Given the description of an element on the screen output the (x, y) to click on. 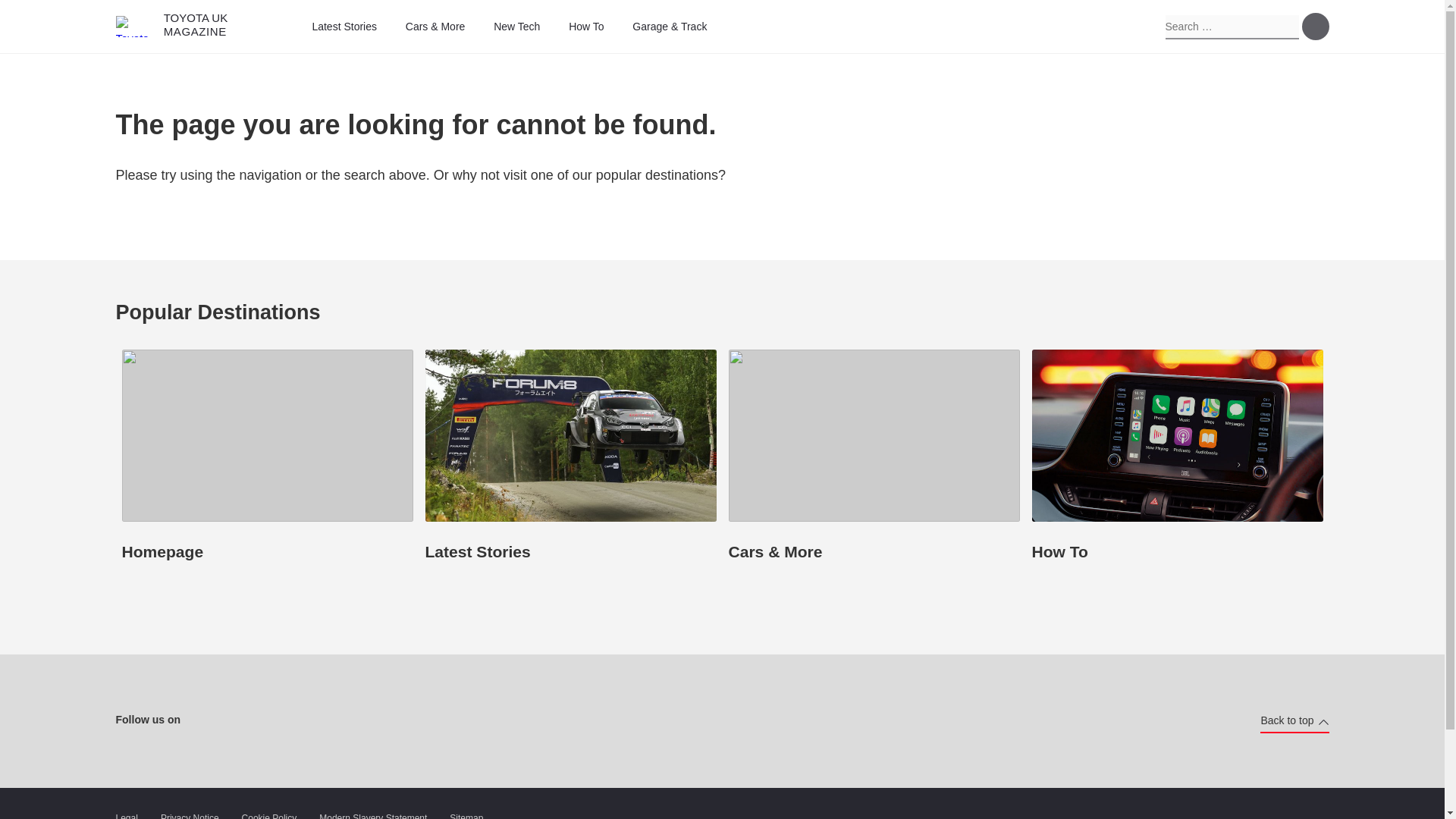
Latest Stories (343, 27)
Back to top (1294, 720)
Search (1314, 26)
Facebook (753, 26)
LinkedIn (350, 720)
Back to top (1294, 720)
Pinterest (322, 720)
Cookie Policy (269, 814)
TOYOTA UK MAGAZINE (171, 26)
Twitter (262, 720)
